Given the description of an element on the screen output the (x, y) to click on. 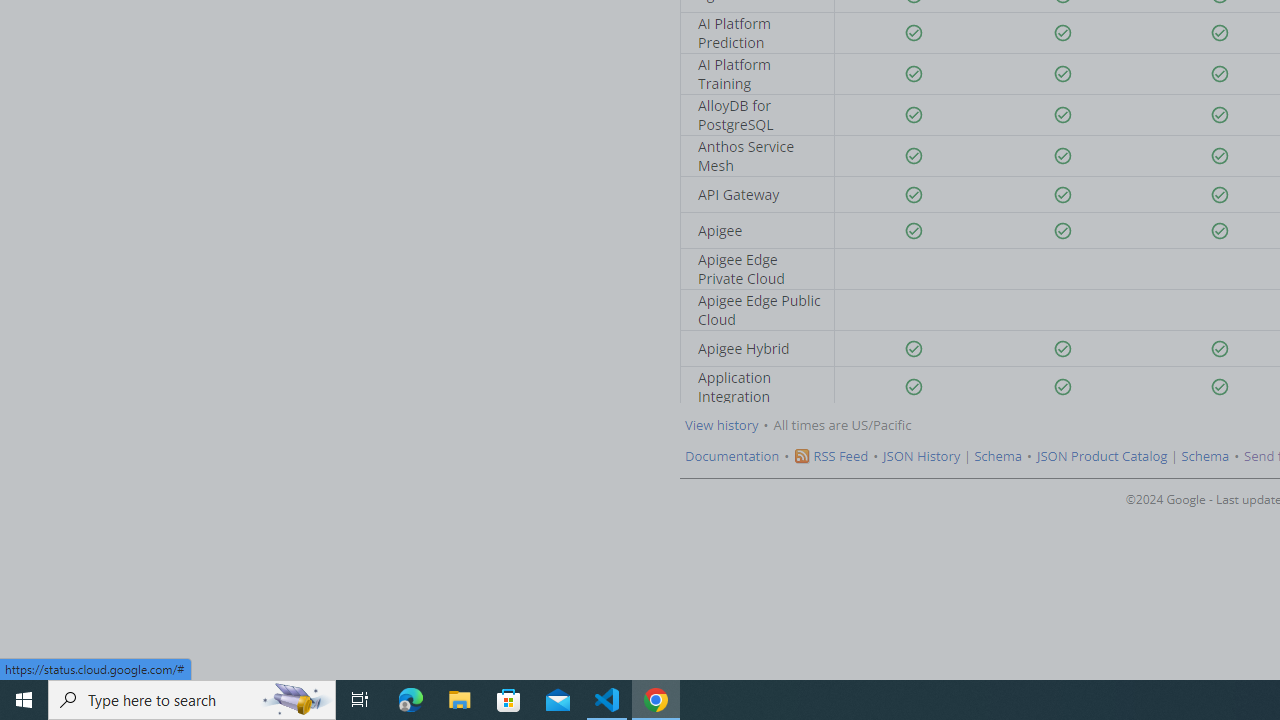
JSON History (922, 456)
View history (721, 425)
Documentation (731, 456)
Schema (1205, 456)
Available status (1220, 387)
JSON Product Catalog (1101, 456)
RSS Feed (840, 456)
